Given the description of an element on the screen output the (x, y) to click on. 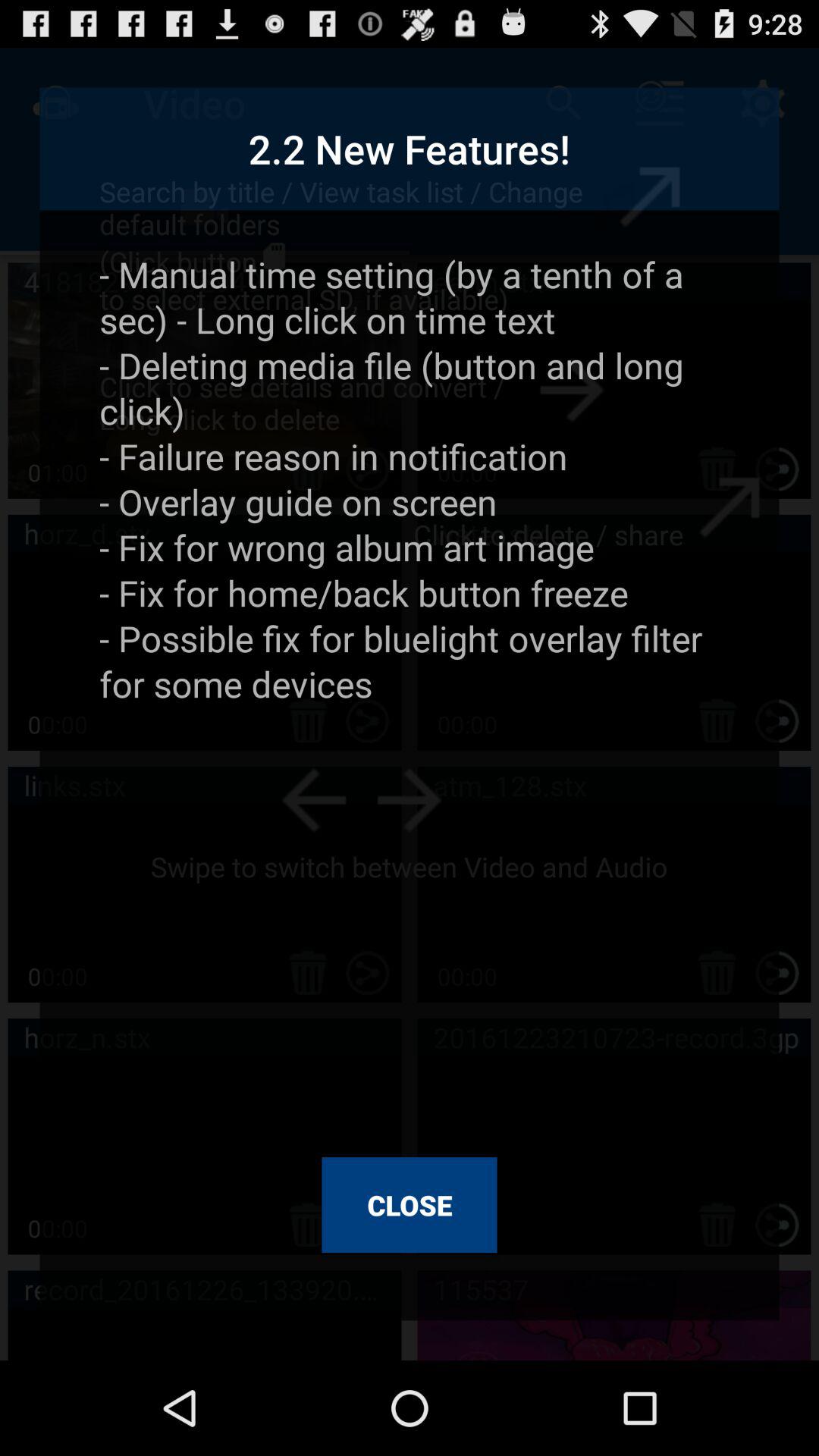
turn on item below the manual time setting (409, 1204)
